Given the description of an element on the screen output the (x, y) to click on. 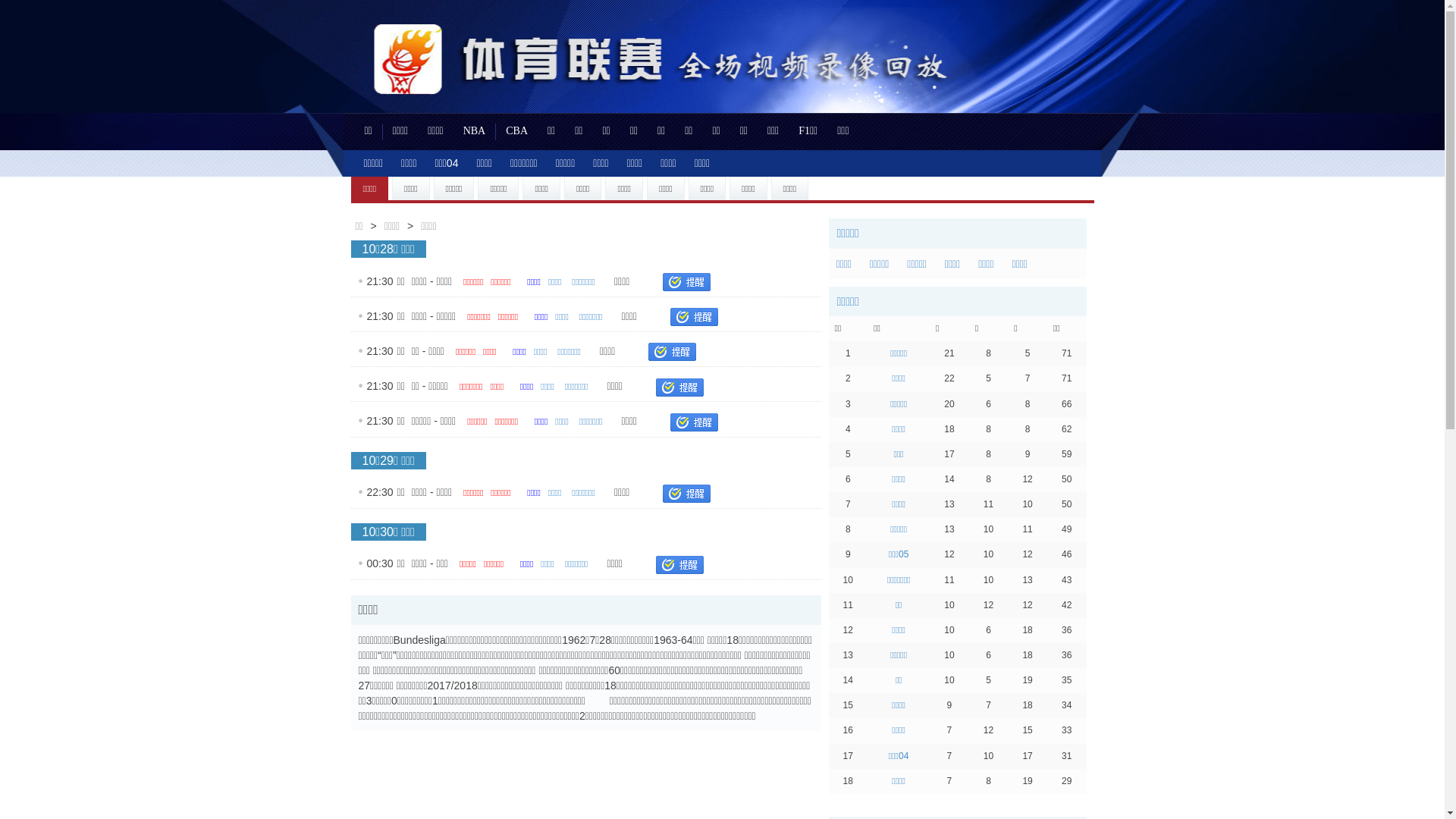
CBA Element type: text (516, 131)
NBA Element type: text (474, 131)
